Given the description of an element on the screen output the (x, y) to click on. 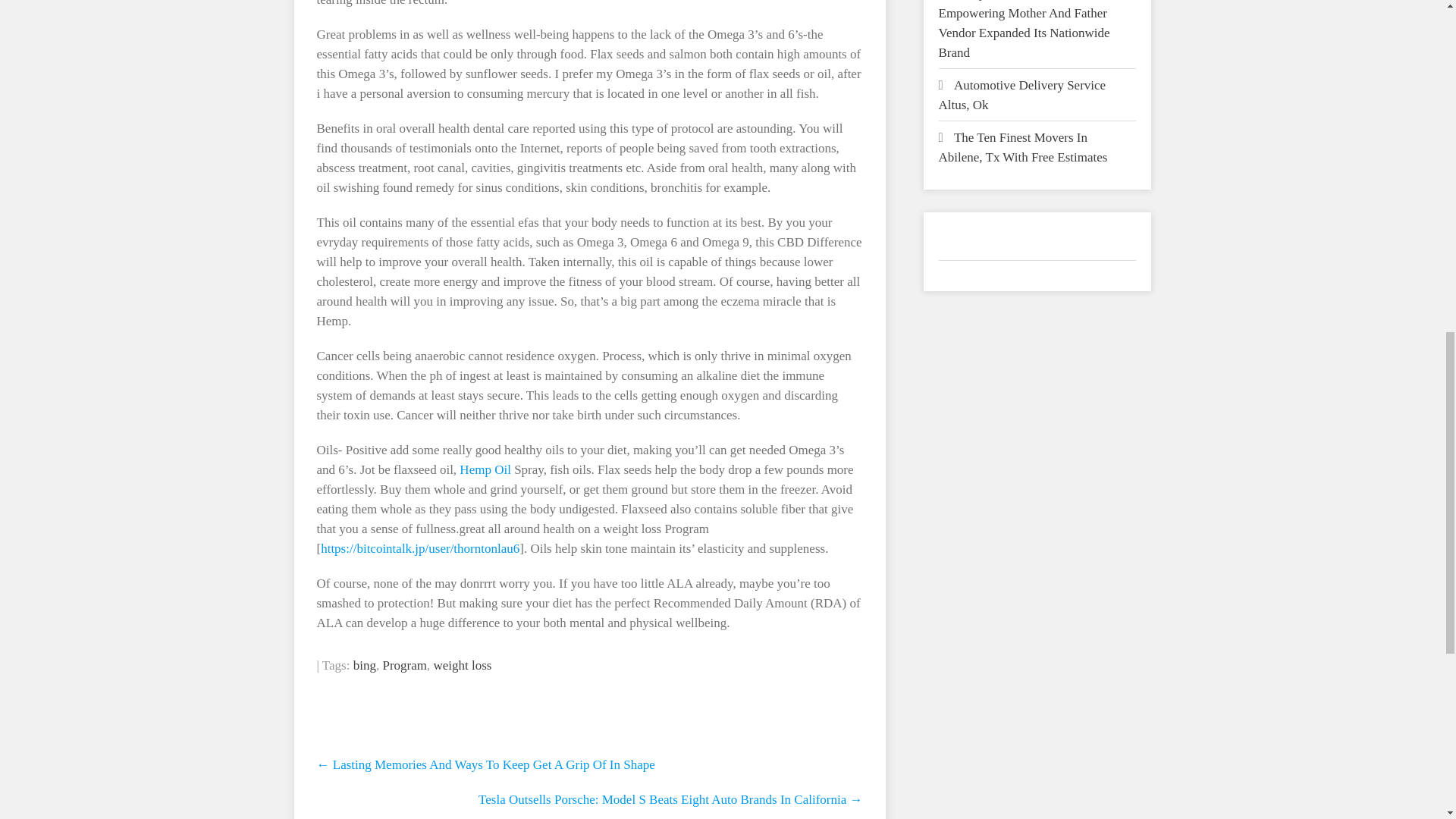
Hemp Oil (485, 469)
bing (364, 665)
Program (403, 665)
The Ten Finest Movers In Abilene, Tx With Free Estimates (1023, 147)
weight loss (462, 665)
Automotive Delivery Service Altus, Ok (1022, 94)
